Given the description of an element on the screen output the (x, y) to click on. 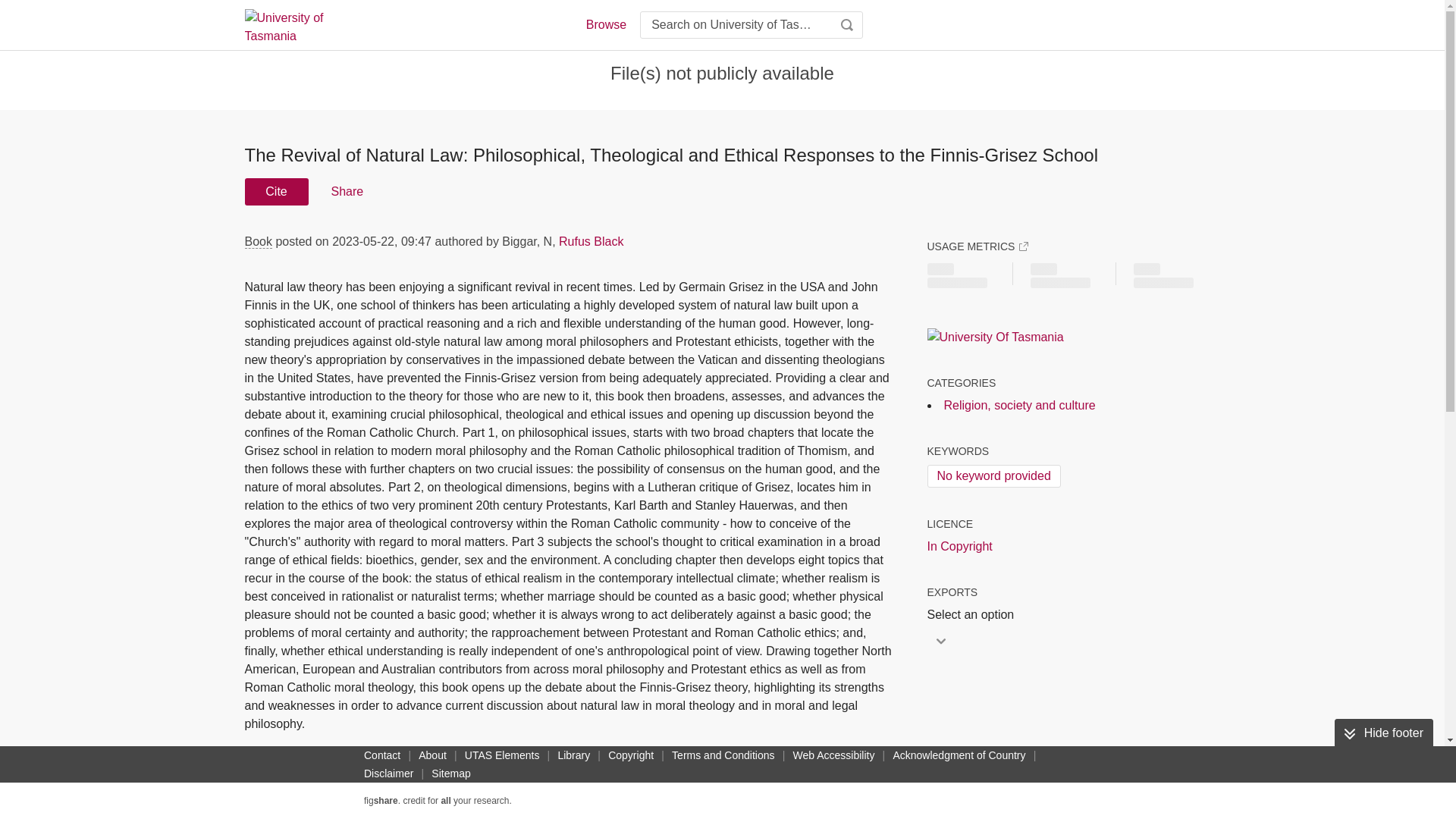
Web Accessibility (834, 755)
Select an option (974, 615)
Acknowledgment of Country (958, 755)
UTAS Elements (502, 755)
Contact (381, 755)
About (432, 755)
Disclaimer (388, 773)
Browse (605, 24)
In Copyright (958, 546)
Sitemap (450, 773)
